Given the description of an element on the screen output the (x, y) to click on. 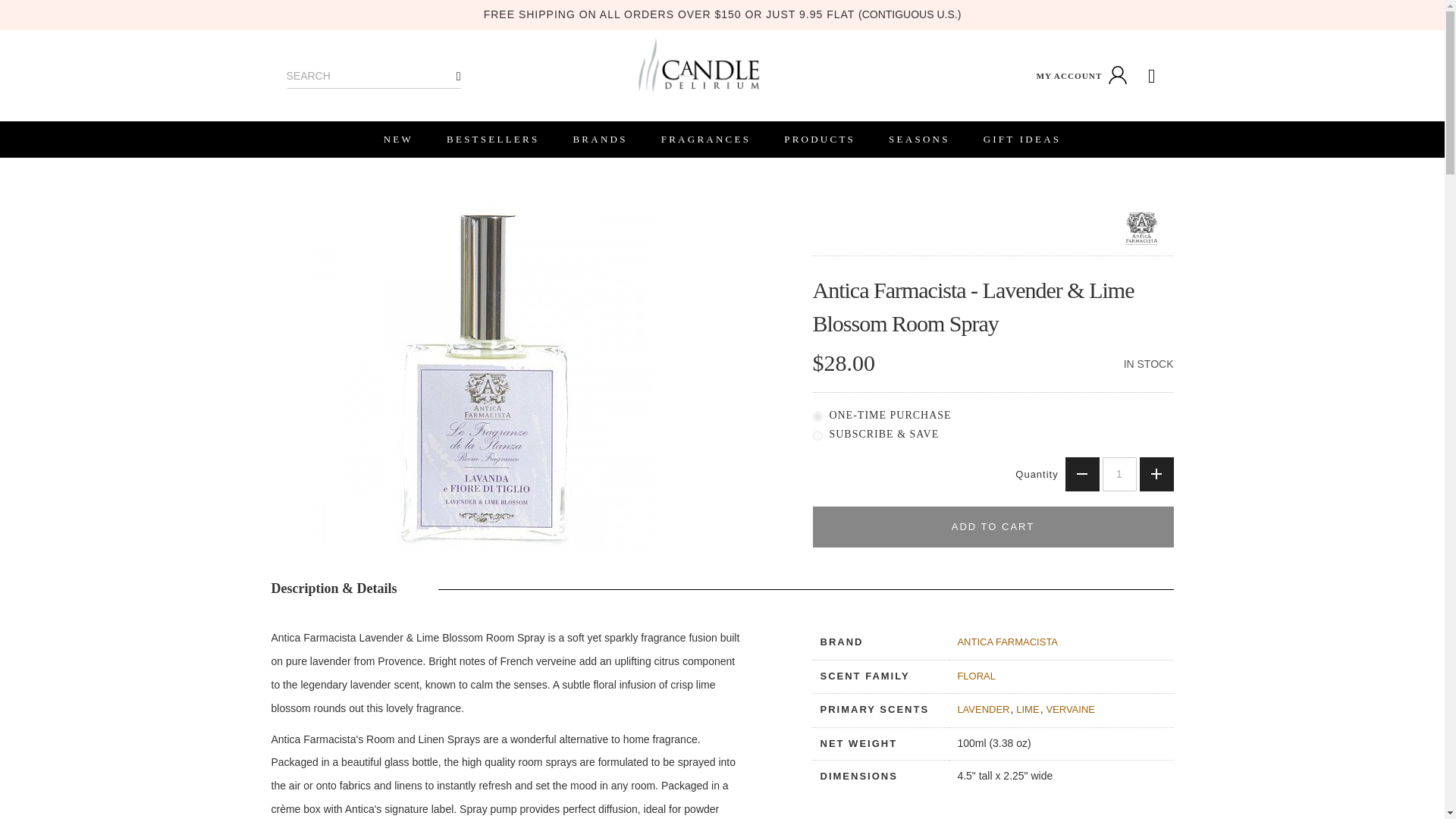
Search (459, 76)
BESTSELLERS (492, 139)
Search (459, 76)
BRANDS (599, 139)
CandleDelirium Candles (697, 65)
0 (817, 416)
NEW (397, 139)
MY CART (1152, 76)
1 (1119, 474)
MY ACCOUNT (1083, 75)
